Given the description of an element on the screen output the (x, y) to click on. 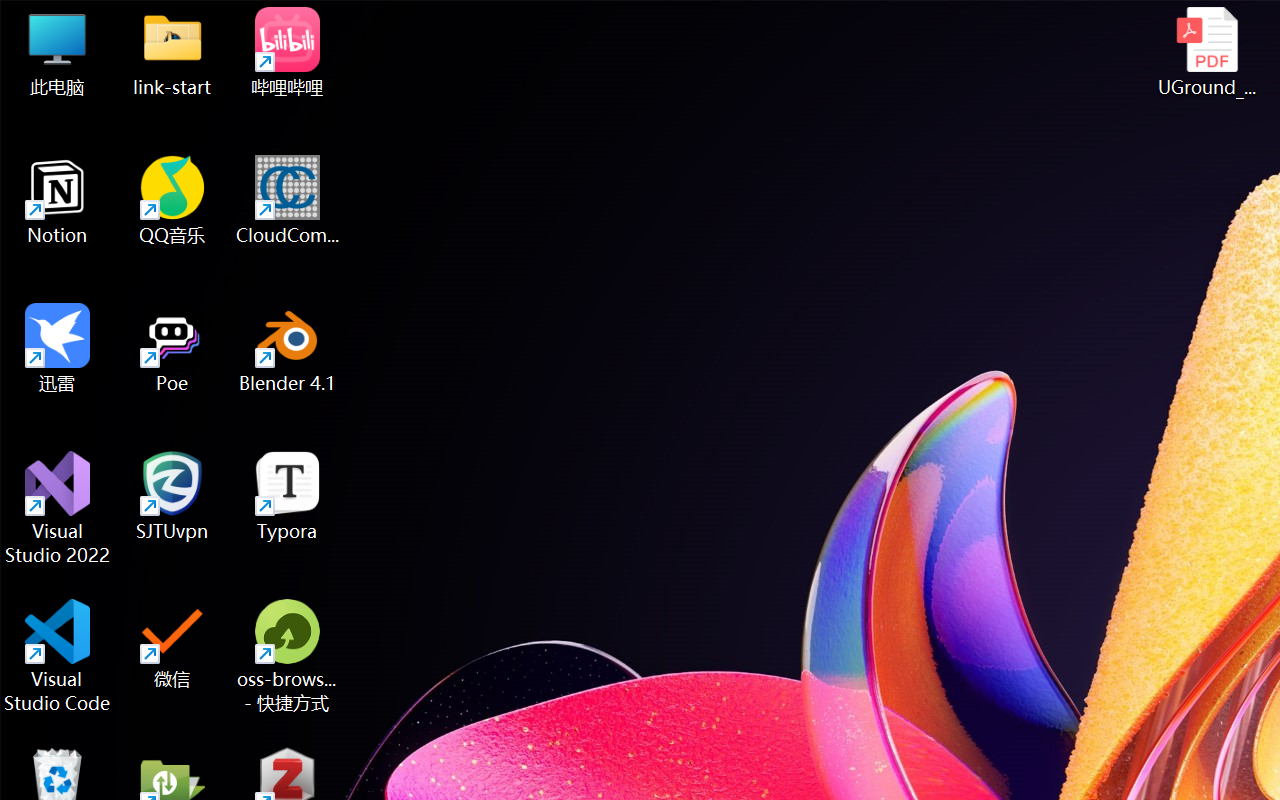
UGround_paper.pdf (1206, 52)
CloudCompare (287, 200)
Typora (287, 496)
Visual Studio Code (57, 656)
Visual Studio 2022 (57, 508)
Blender 4.1 (287, 348)
